Given the description of an element on the screen output the (x, y) to click on. 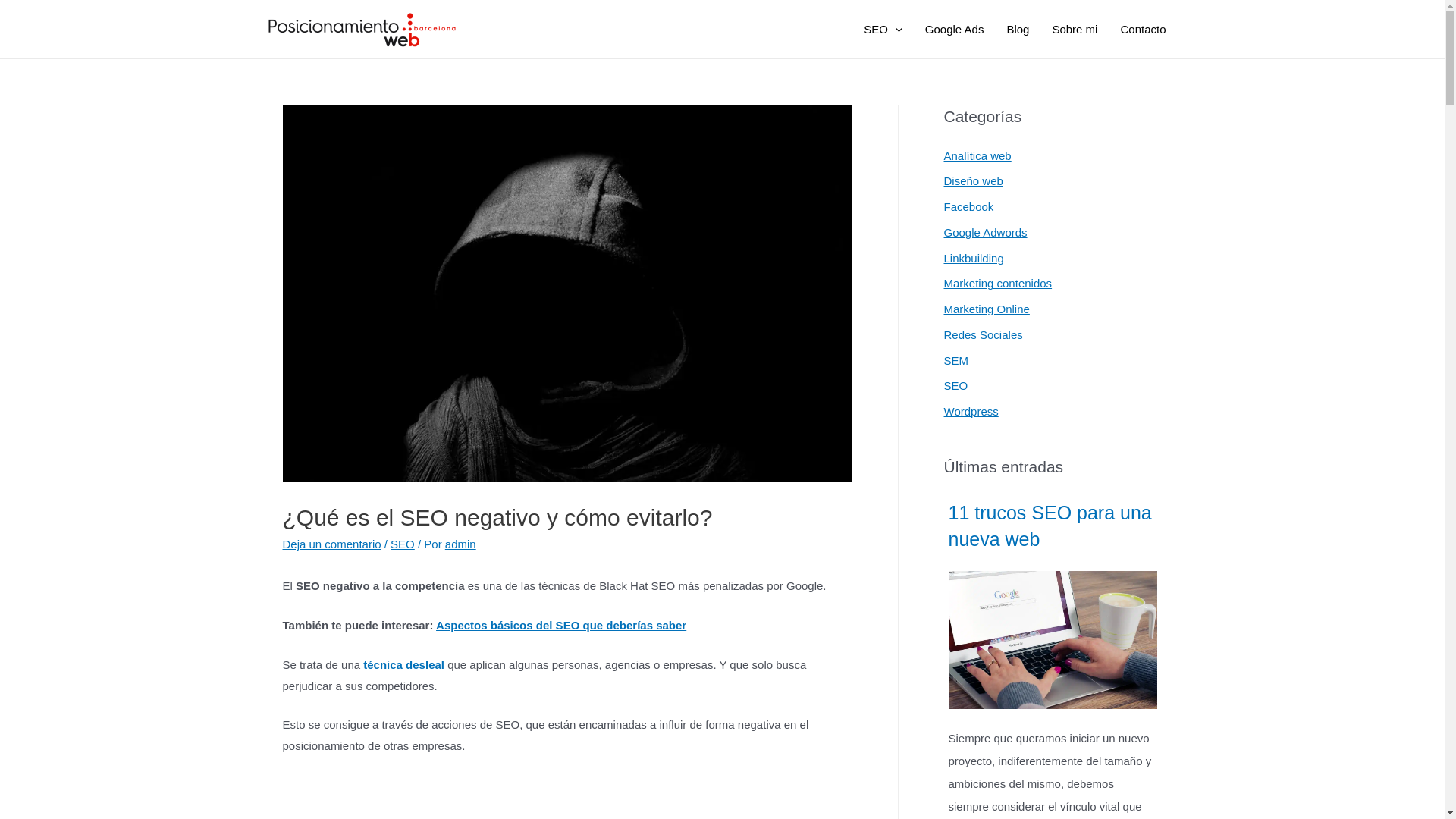
Redes Sociales Element type: text (982, 334)
11 trucos SEO para una nueva web 11 Element type: hover (1051, 639)
Wordpress Element type: text (970, 410)
SEO Element type: text (955, 385)
Sobre mi Element type: text (1074, 29)
admin Element type: text (460, 543)
SEO Element type: text (402, 543)
SEM Element type: text (955, 359)
Marketing contenidos Element type: text (997, 282)
Google Ads Element type: text (954, 29)
Facebook Element type: text (968, 206)
Deja un comentario Element type: text (331, 543)
Contacto Element type: text (1142, 29)
Linkbuilding Element type: text (973, 257)
11 trucos SEO para una nueva web Element type: text (1051, 525)
Marketing Online Element type: text (986, 308)
Google Adwords Element type: text (984, 231)
SEO Element type: text (882, 29)
Blog Element type: text (1017, 29)
